Given the description of an element on the screen output the (x, y) to click on. 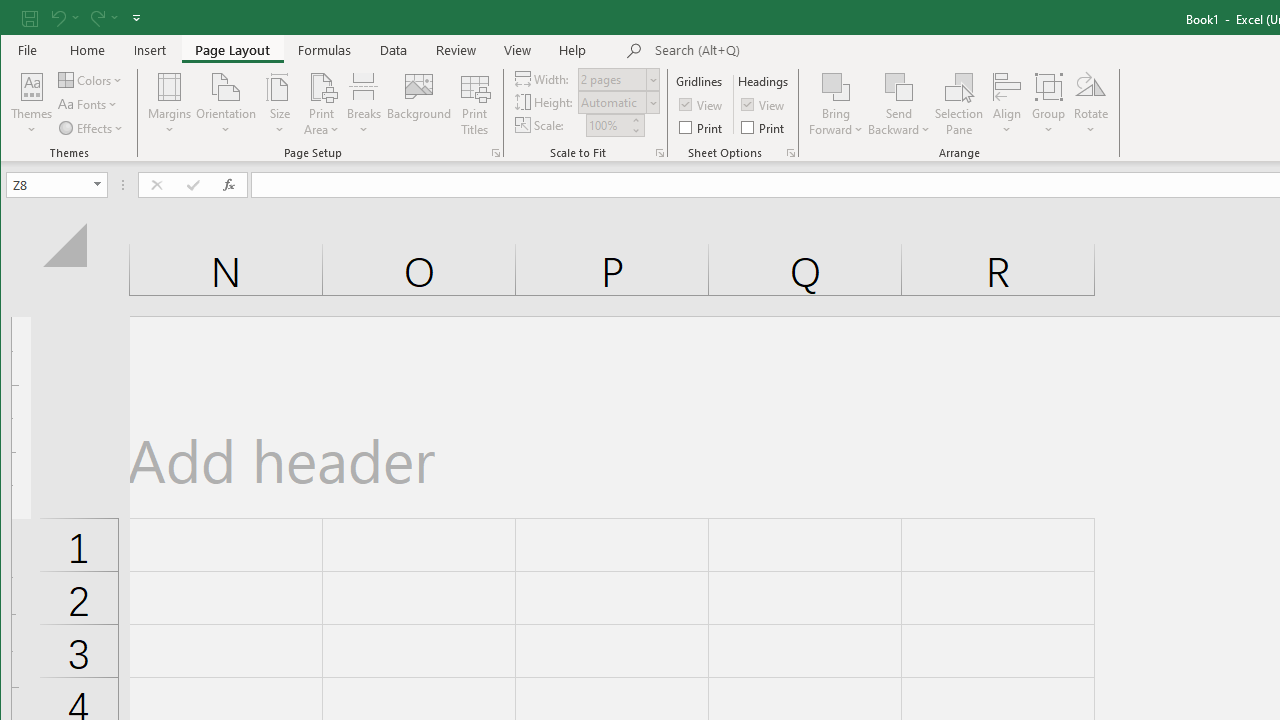
Background... (419, 104)
Height (612, 102)
Print Area (321, 104)
Size (279, 104)
Bring Forward (836, 86)
Sheet Options (790, 152)
Fonts (89, 103)
